Given the description of an element on the screen output the (x, y) to click on. 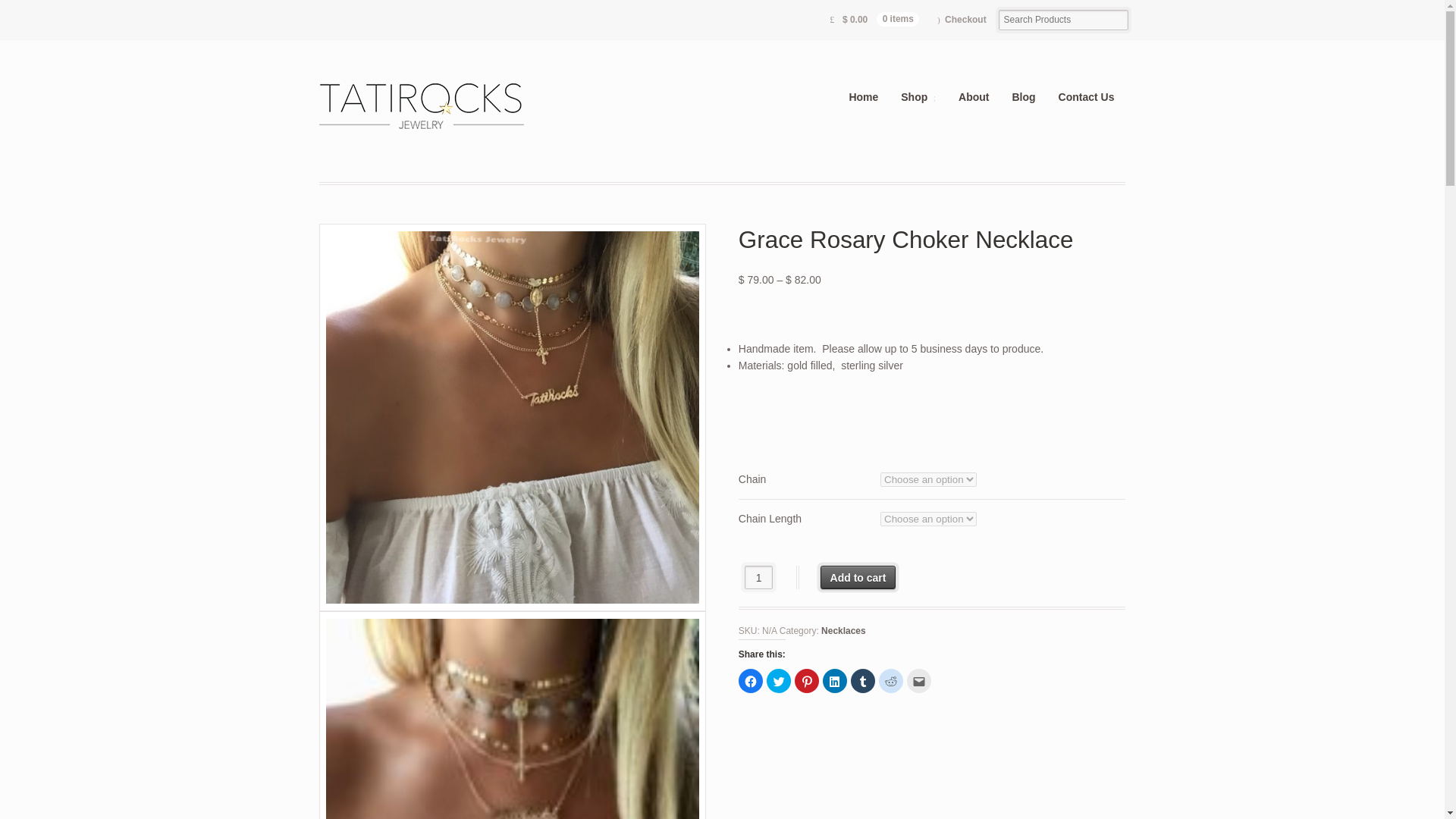
Search (65, 10)
Blog (1023, 97)
Click to email this to a friend (919, 680)
Click to share on Pinterest (806, 680)
Contact Us (1085, 97)
Necklaces (843, 630)
1 (758, 576)
About (973, 97)
Home (863, 97)
Click to share on Tumblr (862, 680)
View your shopping cart (874, 20)
Click to share on Facebook (750, 680)
Qty (758, 576)
Click to share on LinkedIn (834, 680)
Checkout (961, 20)
